Given the description of an element on the screen output the (x, y) to click on. 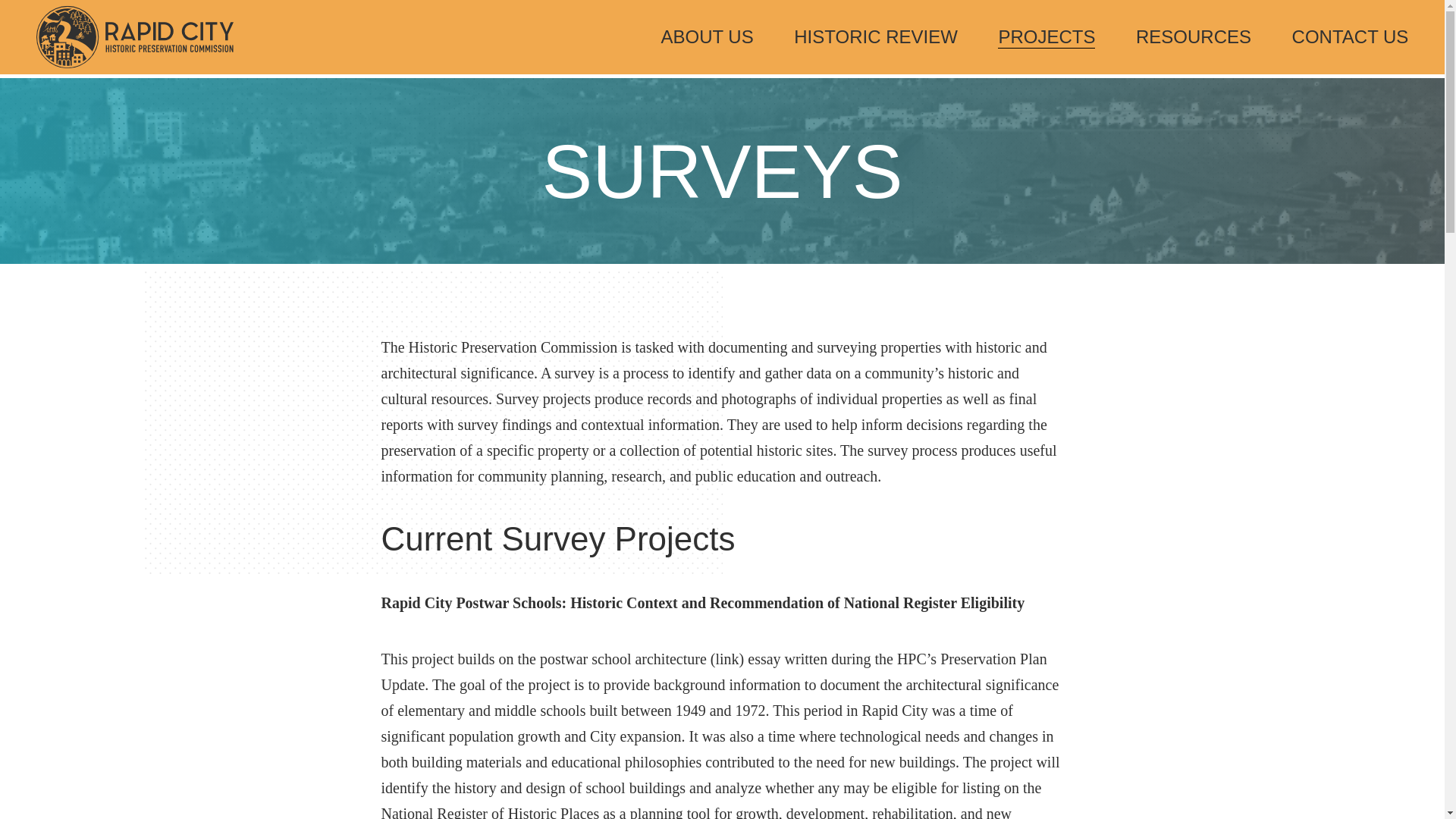
HISTORIC REVIEW (875, 36)
PROJECTS (1045, 36)
RESOURCES (1192, 36)
ABOUT US (706, 36)
CONTACT US (1350, 36)
